Given the description of an element on the screen output the (x, y) to click on. 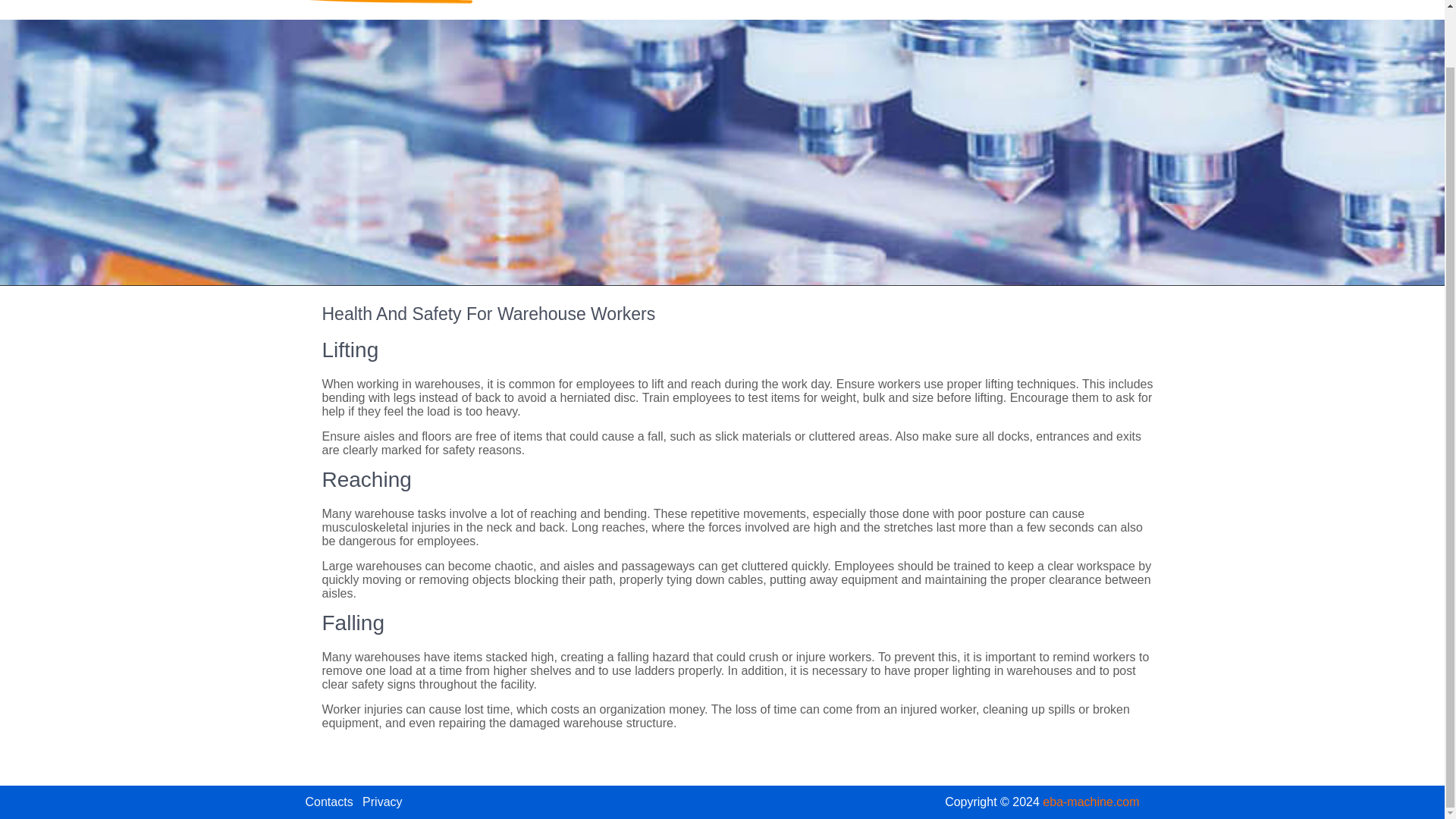
Water Treatment (884, 6)
Privacy (381, 801)
Contacts (328, 801)
News (970, 6)
eba-machine.com (1090, 801)
Food Packaging (651, 6)
Contacts (1036, 6)
Reverse Osmosis (767, 6)
